Given the description of an element on the screen output the (x, y) to click on. 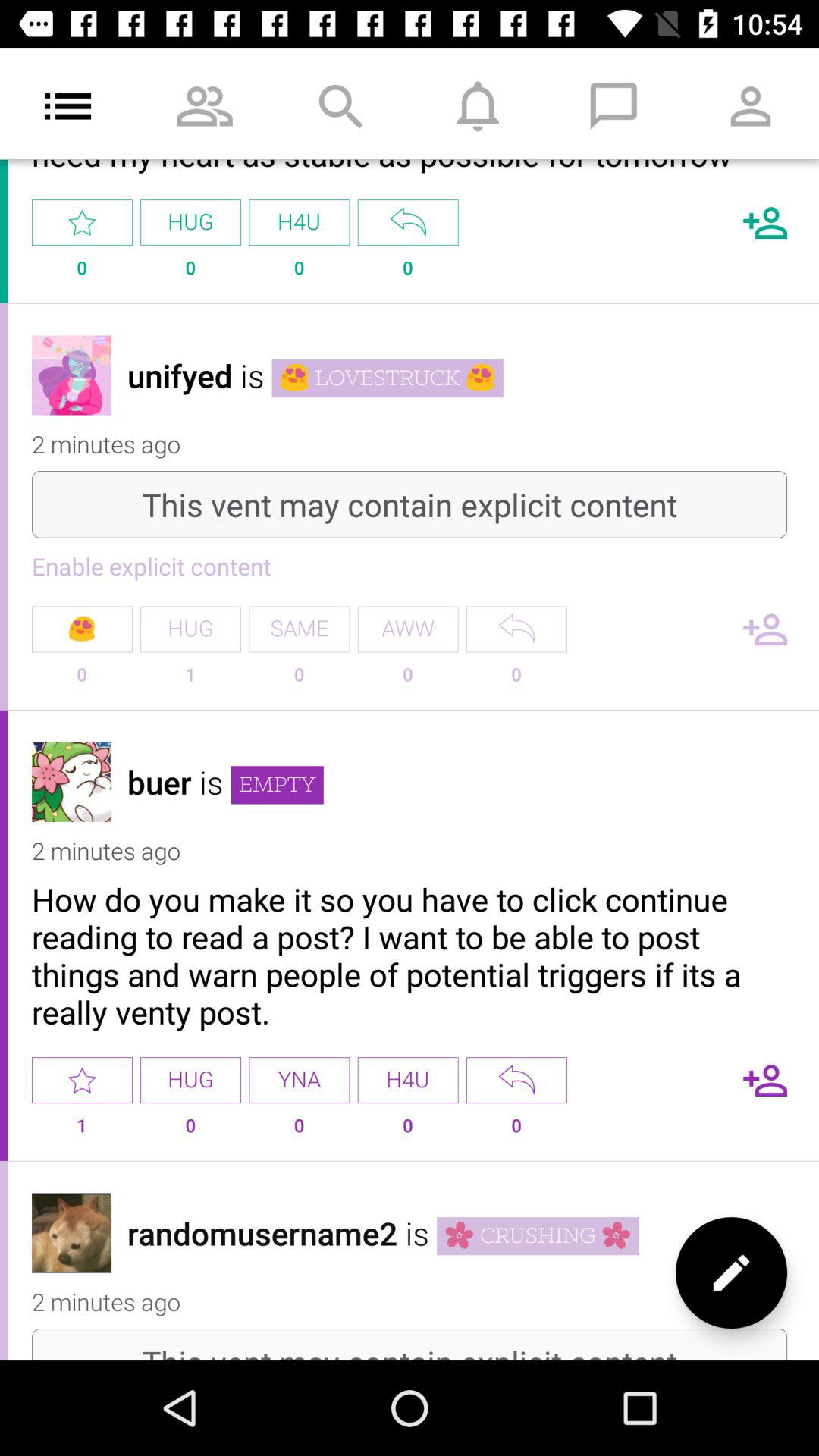
turn off the item next to hug app (81, 629)
